Given the description of an element on the screen output the (x, y) to click on. 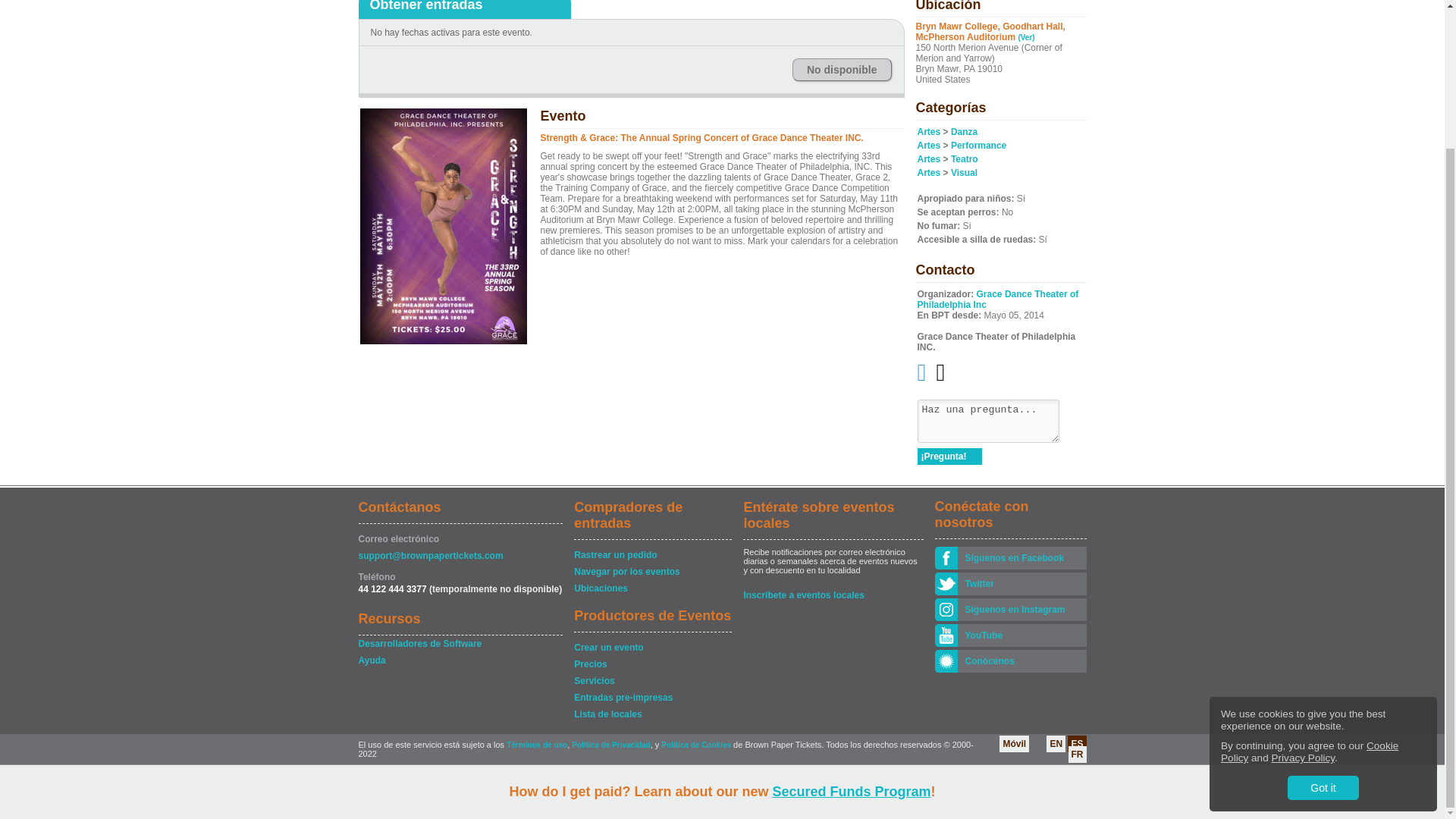
Ubicaciones (651, 588)
Privacy Policy (1303, 586)
Artes (928, 145)
Grace Dance Theater of Philadelphia Inc (997, 299)
Artes (928, 131)
Navegar por los eventos (651, 571)
Artes (928, 172)
Desarrolladores de Software (460, 643)
Crear un evento (651, 647)
Performance (978, 145)
Danza (963, 131)
Precios (651, 663)
No disponible (841, 69)
Teatro (964, 158)
Got it (1322, 617)
